Given the description of an element on the screen output the (x, y) to click on. 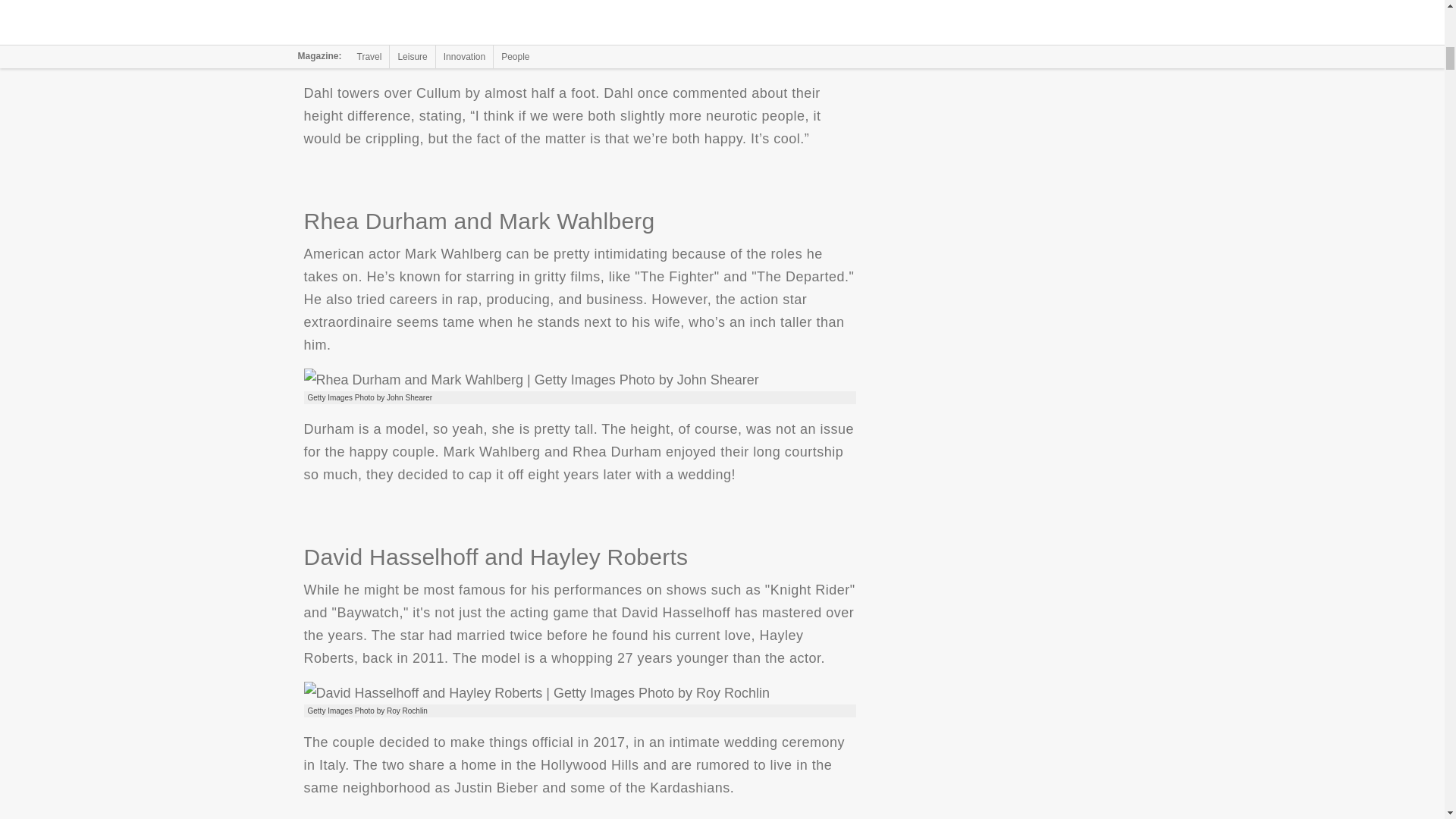
David Hasselhoff and Hayley Roberts (536, 692)
Rhea Durham and Mark Wahlberg (530, 379)
Jamie Cullum and Sophie Dahl (579, 28)
